Given the description of an element on the screen output the (x, y) to click on. 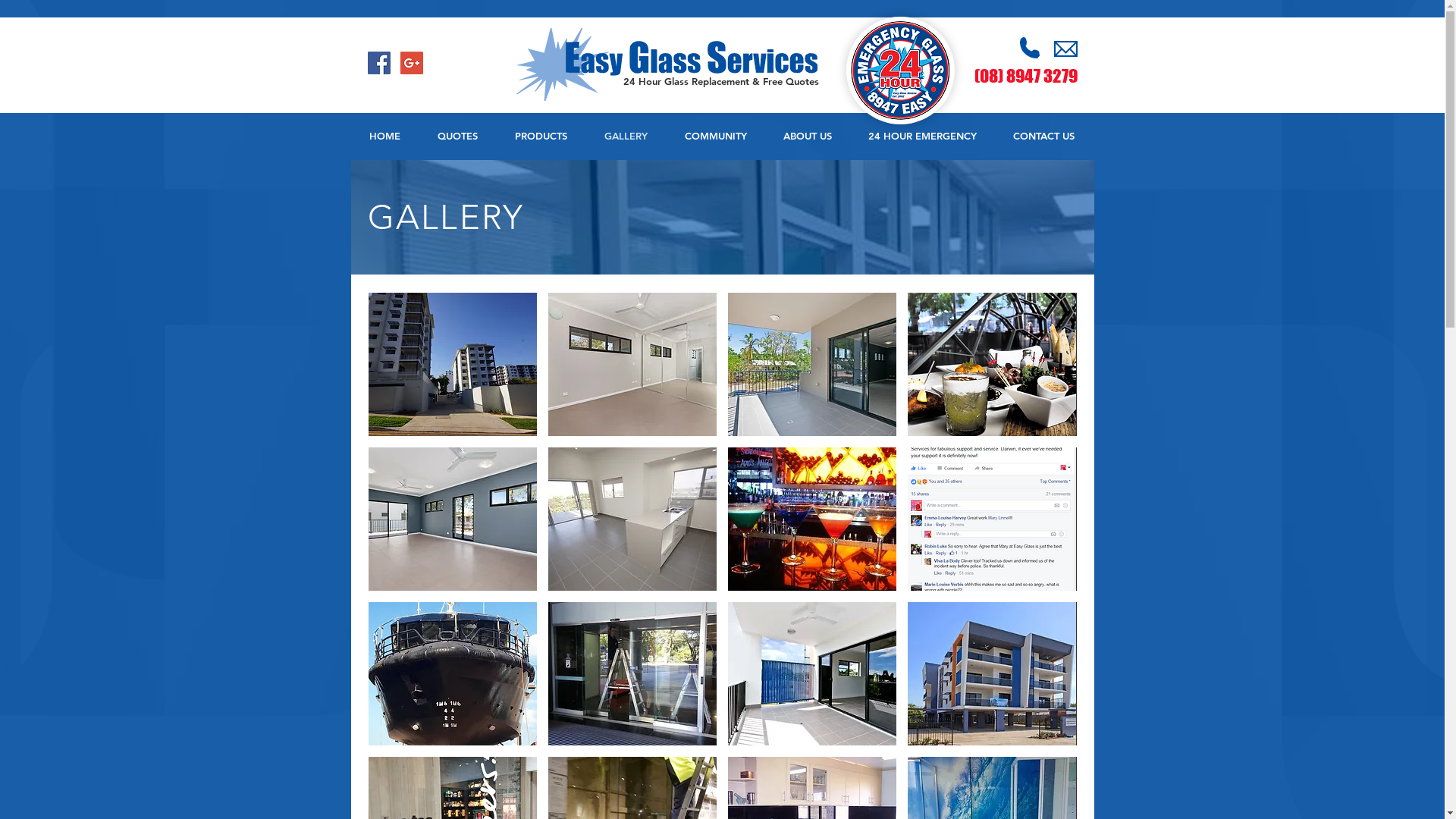
HOME Element type: text (384, 135)
ABOUT US Element type: text (806, 135)
QUOTES Element type: text (456, 135)
(08) 8947 3279 Element type: text (1024, 76)
GALLERY Element type: text (625, 135)
24 HOUR EMERGENCY Element type: text (921, 135)
COMMUNITY Element type: text (714, 135)
CONTACT US Element type: text (1043, 135)
